Given the description of an element on the screen output the (x, y) to click on. 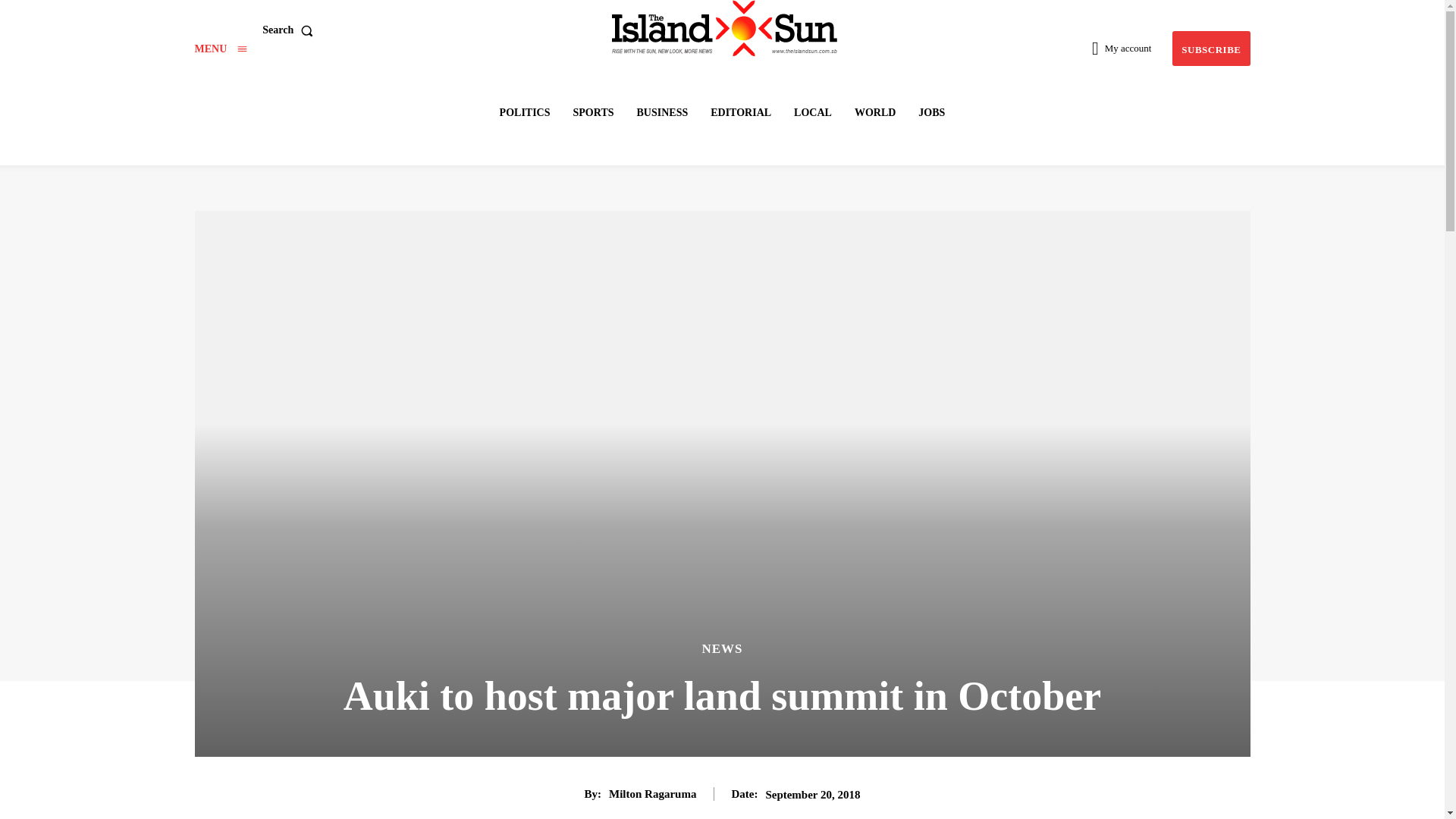
MENU (220, 48)
Search (290, 29)
EDITORIAL (740, 112)
SUBSCRIBE (1210, 48)
Menu (220, 48)
BUSINESS (661, 112)
SPORTS (593, 112)
Subscribe (1210, 48)
POLITICS (524, 112)
